Given the description of an element on the screen output the (x, y) to click on. 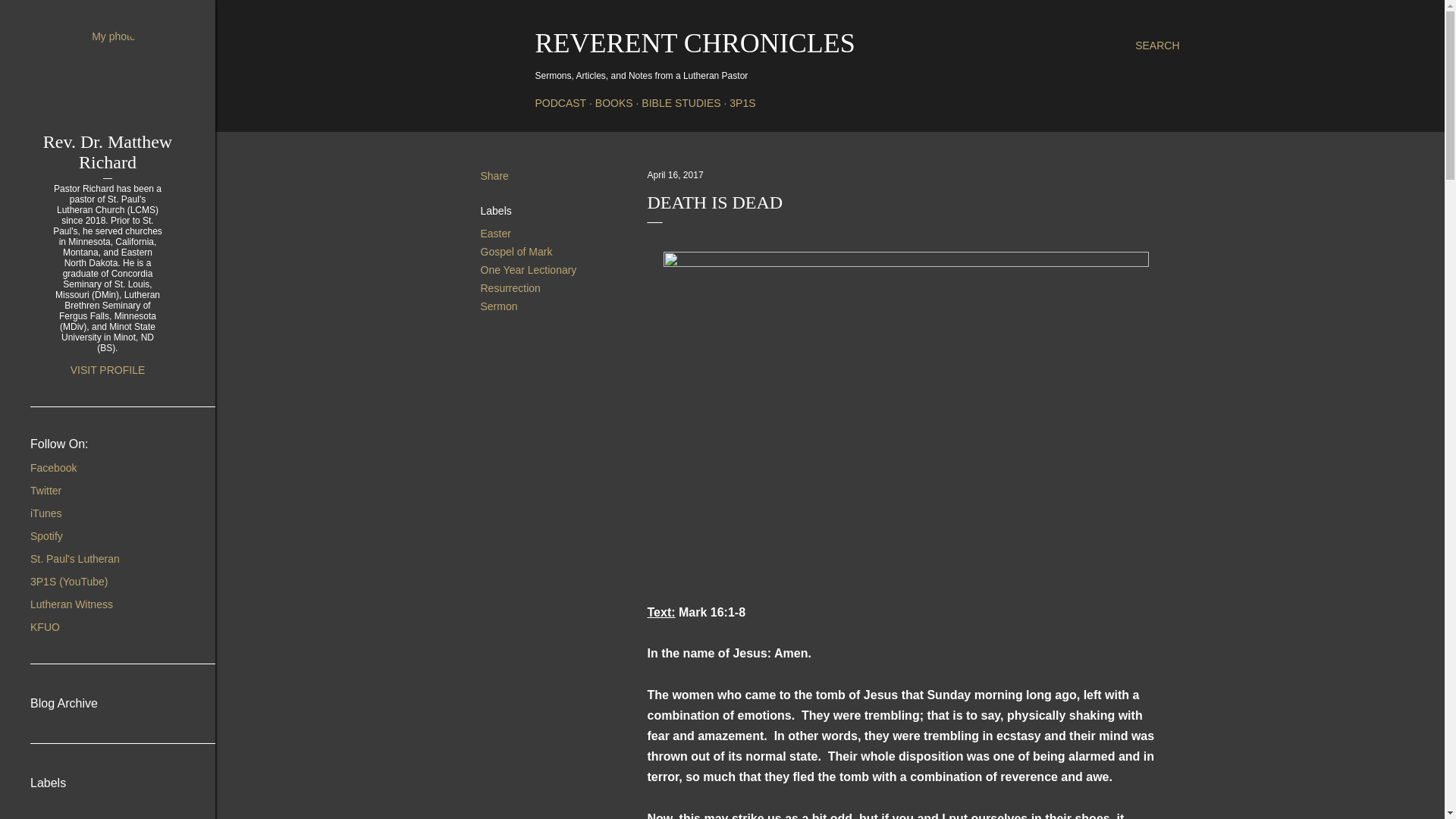
BOOKS (614, 102)
April 16, 2017 (675, 174)
Gospel of Mark (516, 251)
Twitter (45, 490)
BIBLE STUDIES (681, 102)
One Year Lectionary (528, 269)
Rev. Dr. Matthew Richard (107, 151)
VISIT PROFILE (107, 369)
REVERENT CHRONICLES (695, 42)
SEARCH (1157, 45)
